Given the description of an element on the screen output the (x, y) to click on. 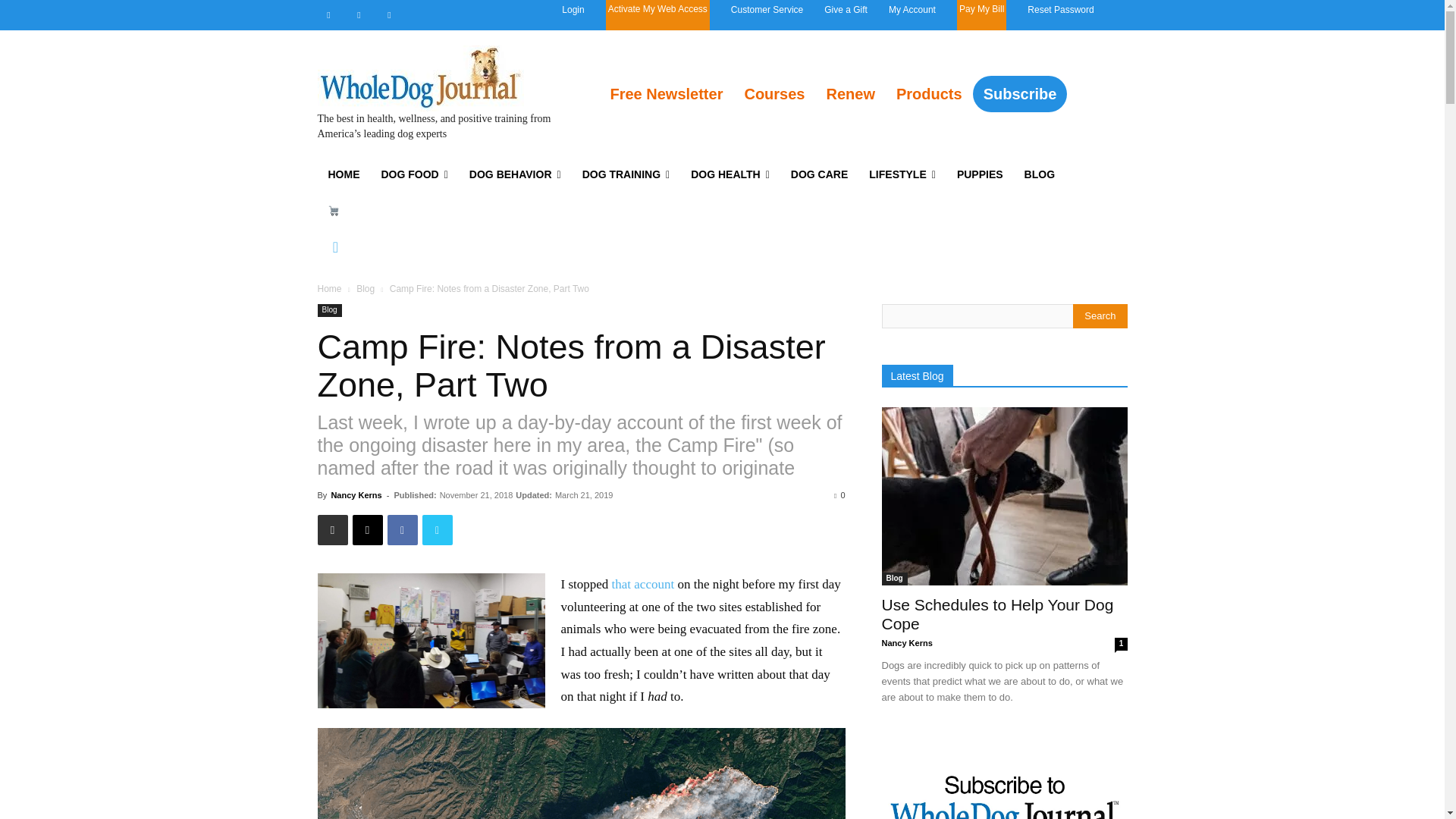
Give a Gift (845, 9)
Instagram (358, 15)
Activate My Web Access (657, 15)
Search (1099, 315)
Customer Service (766, 9)
Facebook (328, 15)
Twitter (388, 15)
Login (572, 9)
